Given the description of an element on the screen output the (x, y) to click on. 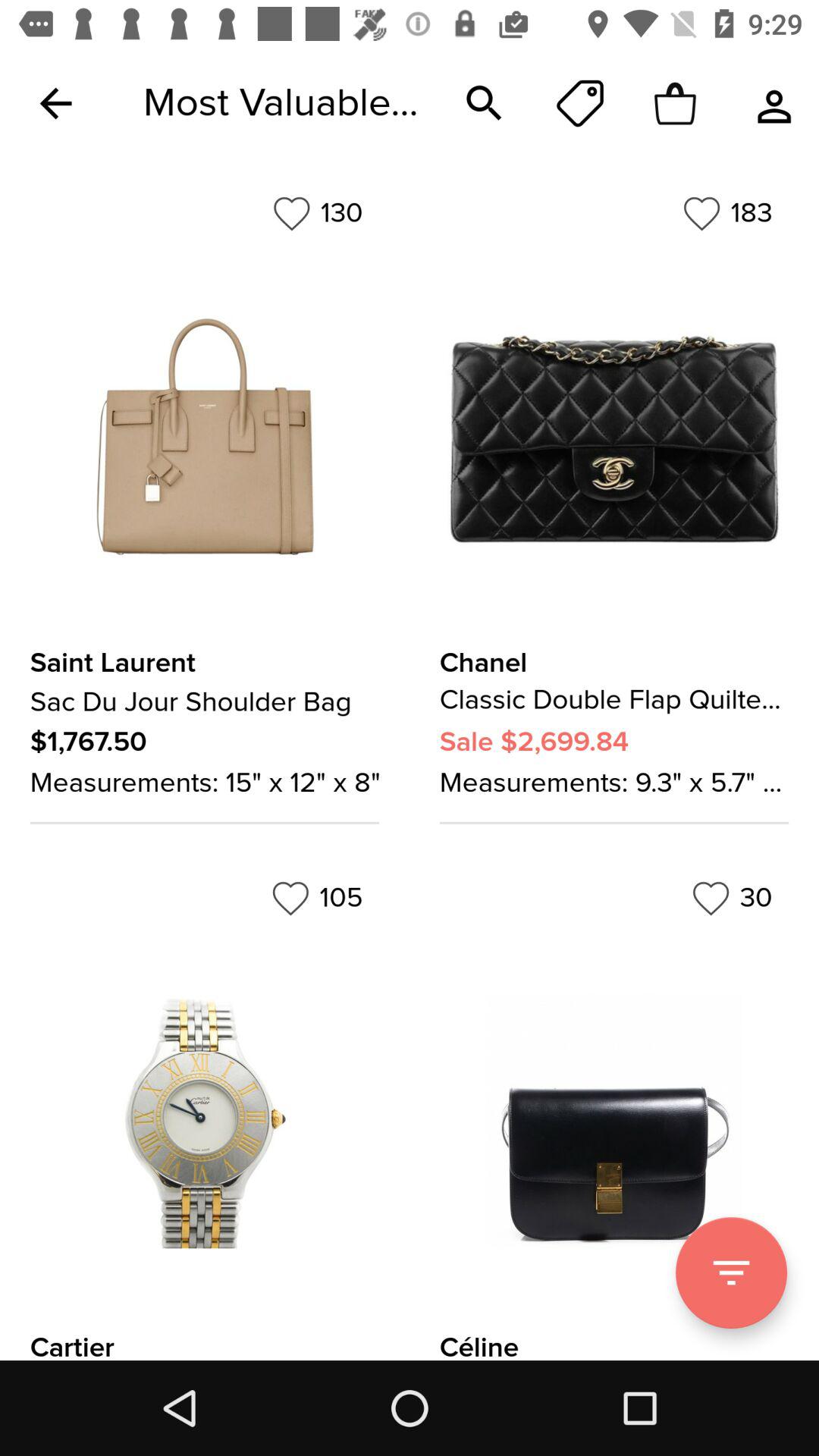
jump to 105 item (317, 898)
